Given the description of an element on the screen output the (x, y) to click on. 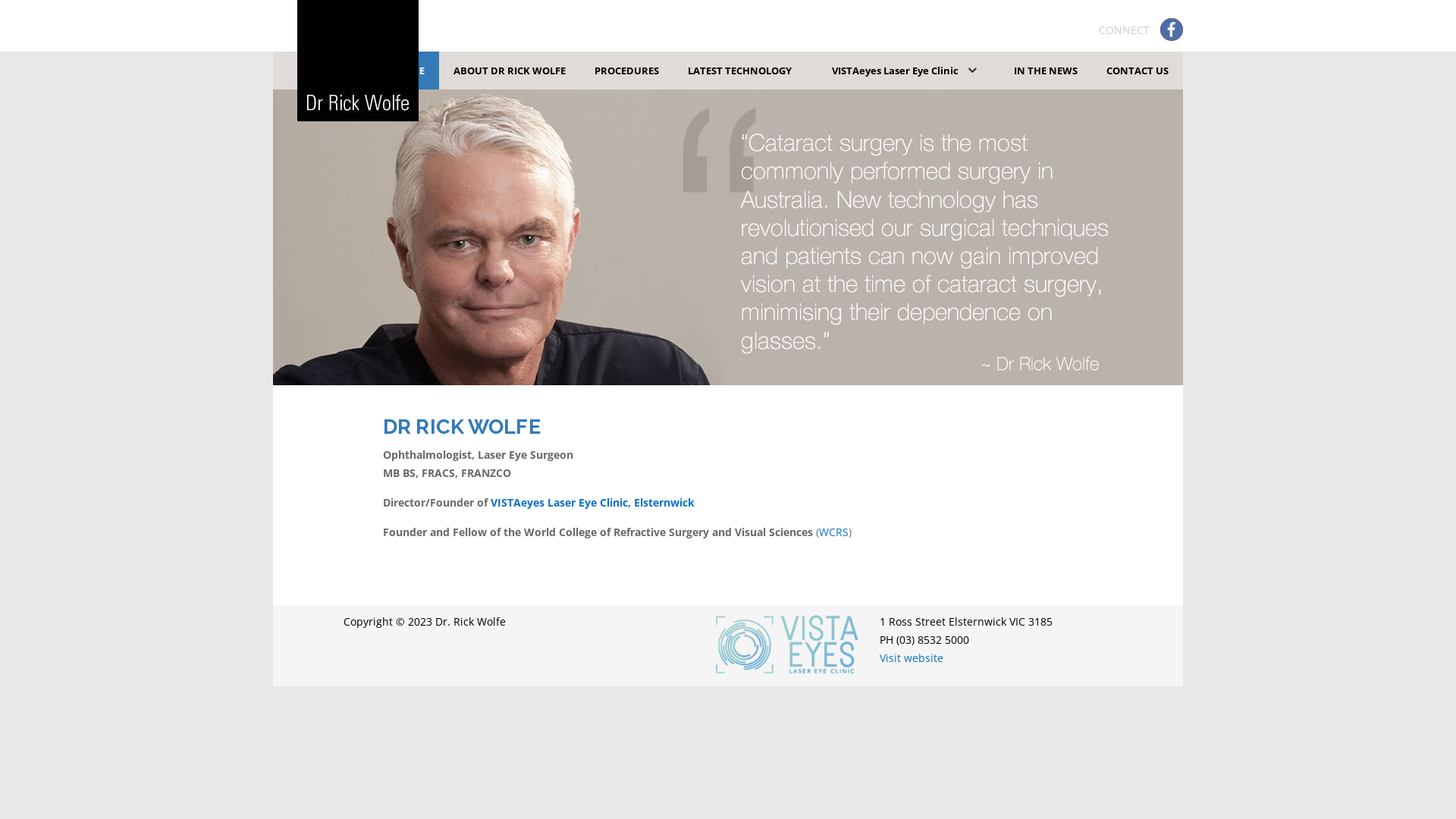
VISTAeyes Laser Eye Clinic, Elsternwick Element type: text (592, 502)
IN THE NEWS Element type: text (1045, 70)
VISTAeyes Laser Eye Clinic Element type: text (902, 70)
HOME Element type: text (409, 70)
ABOUT DR RICK WOLFE Element type: text (509, 70)
PROCEDURES Element type: text (626, 70)
Visit website Element type: text (911, 657)
facebook Element type: hover (1171, 29)
LATEST TECHNOLOGY Element type: text (739, 70)
CONTACT US Element type: text (1137, 70)
WCRS Element type: text (833, 531)
